Given the description of an element on the screen output the (x, y) to click on. 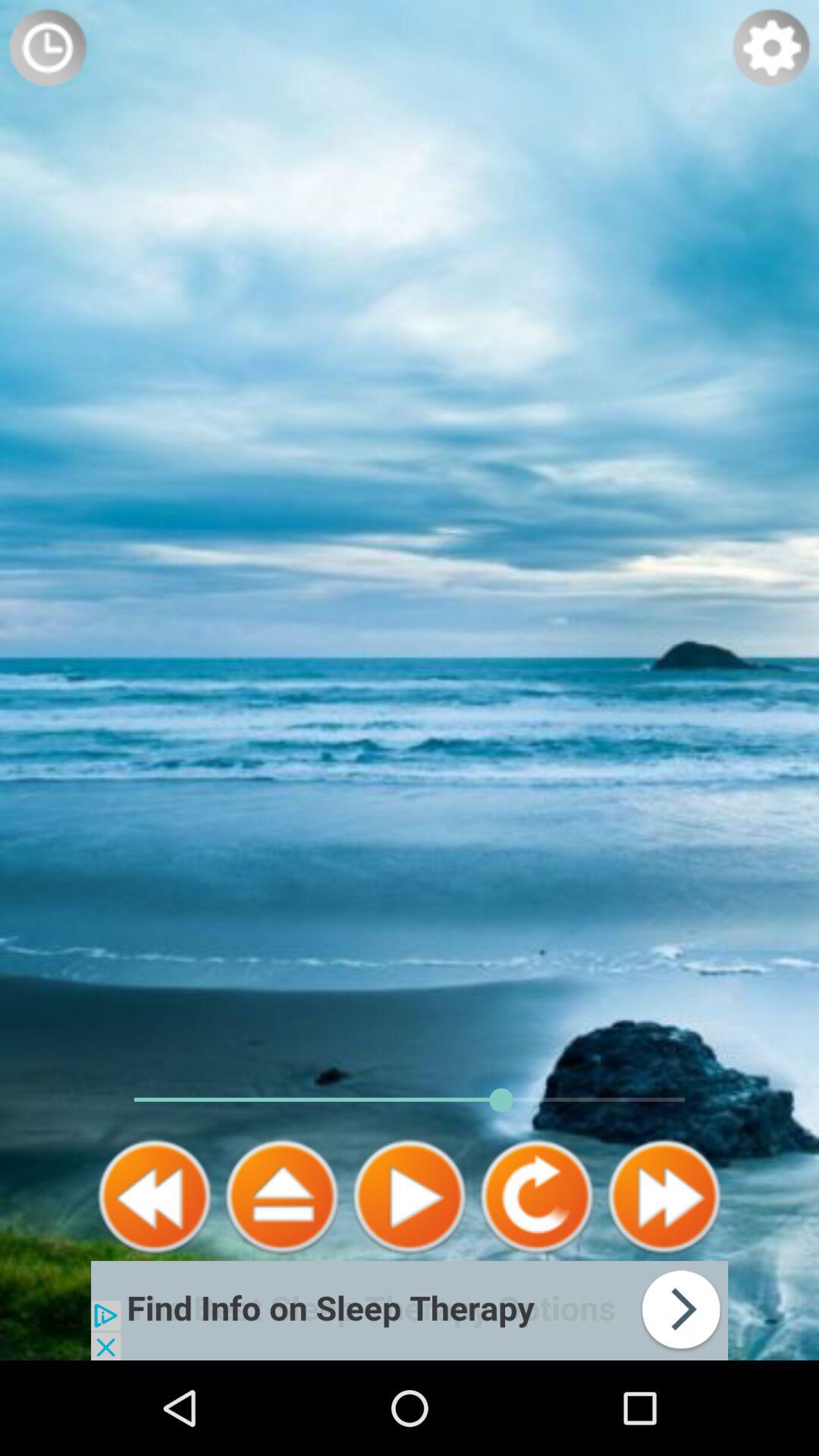
show settings (771, 47)
